Given the description of an element on the screen output the (x, y) to click on. 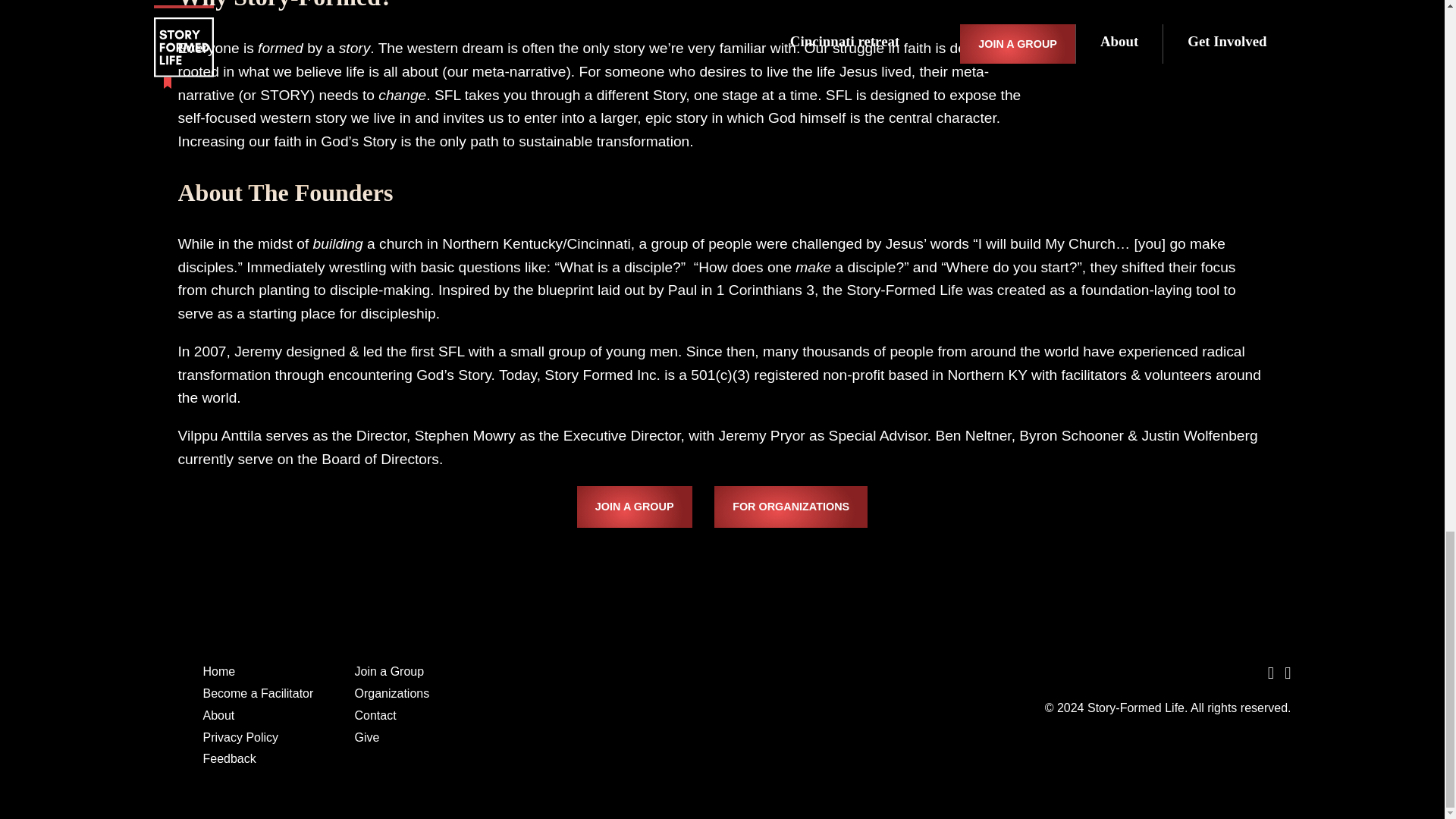
Give (367, 737)
About (218, 715)
Organizations (392, 693)
Join a Group (390, 671)
Feedback (229, 758)
Become a Facilitator (258, 693)
FOR ORGANIZATIONS (790, 506)
Privacy Policy (241, 737)
JOIN A GROUP (634, 506)
Contact (375, 715)
